Given the description of an element on the screen output the (x, y) to click on. 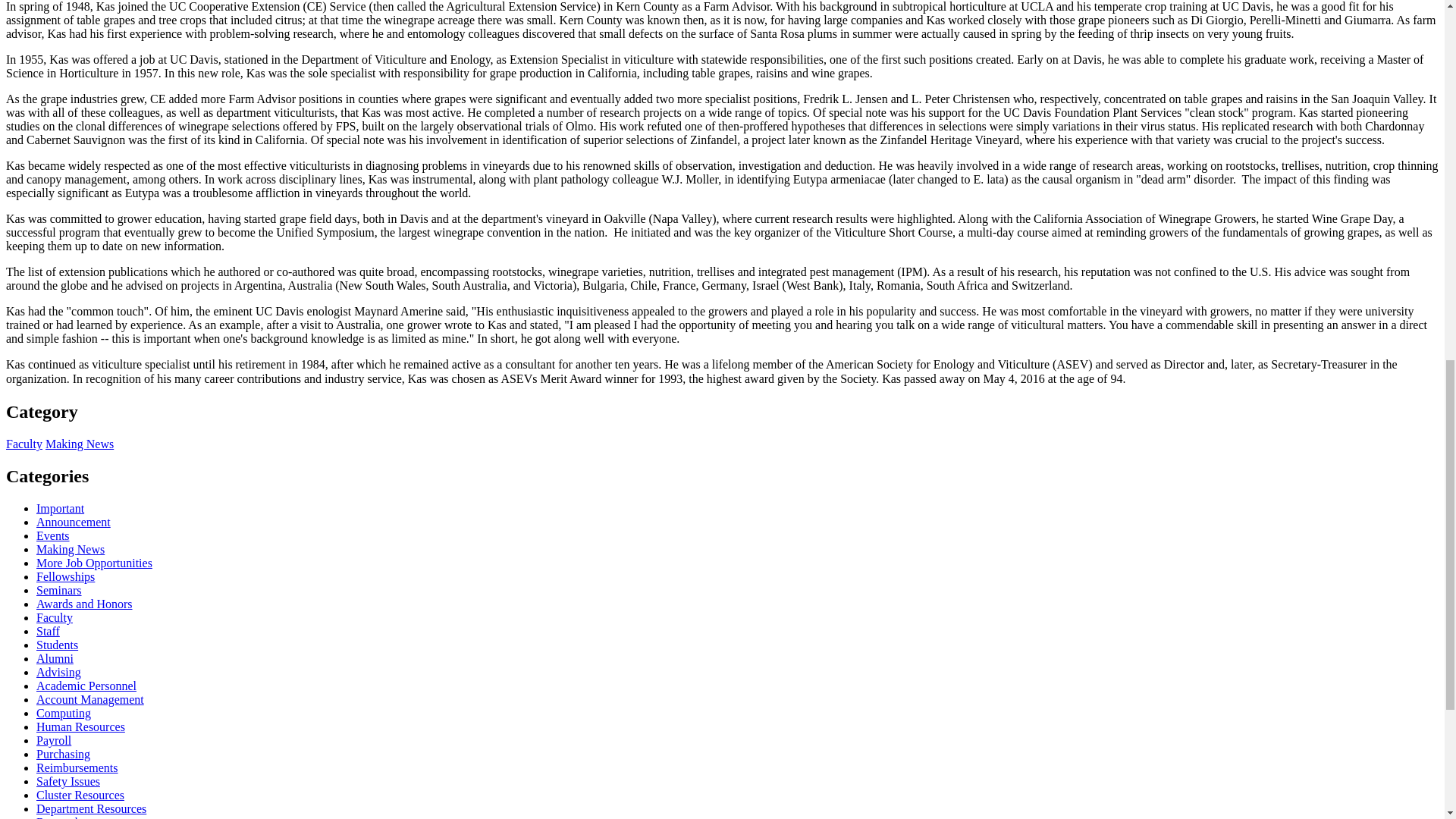
Events (52, 535)
More Job Opportunities (94, 562)
Seminars (58, 590)
Faculty (23, 443)
Fellowships (65, 576)
Announcement (73, 521)
Making News (70, 549)
Awards and Honors (84, 603)
Important (60, 508)
Faculty (54, 617)
